Given the description of an element on the screen output the (x, y) to click on. 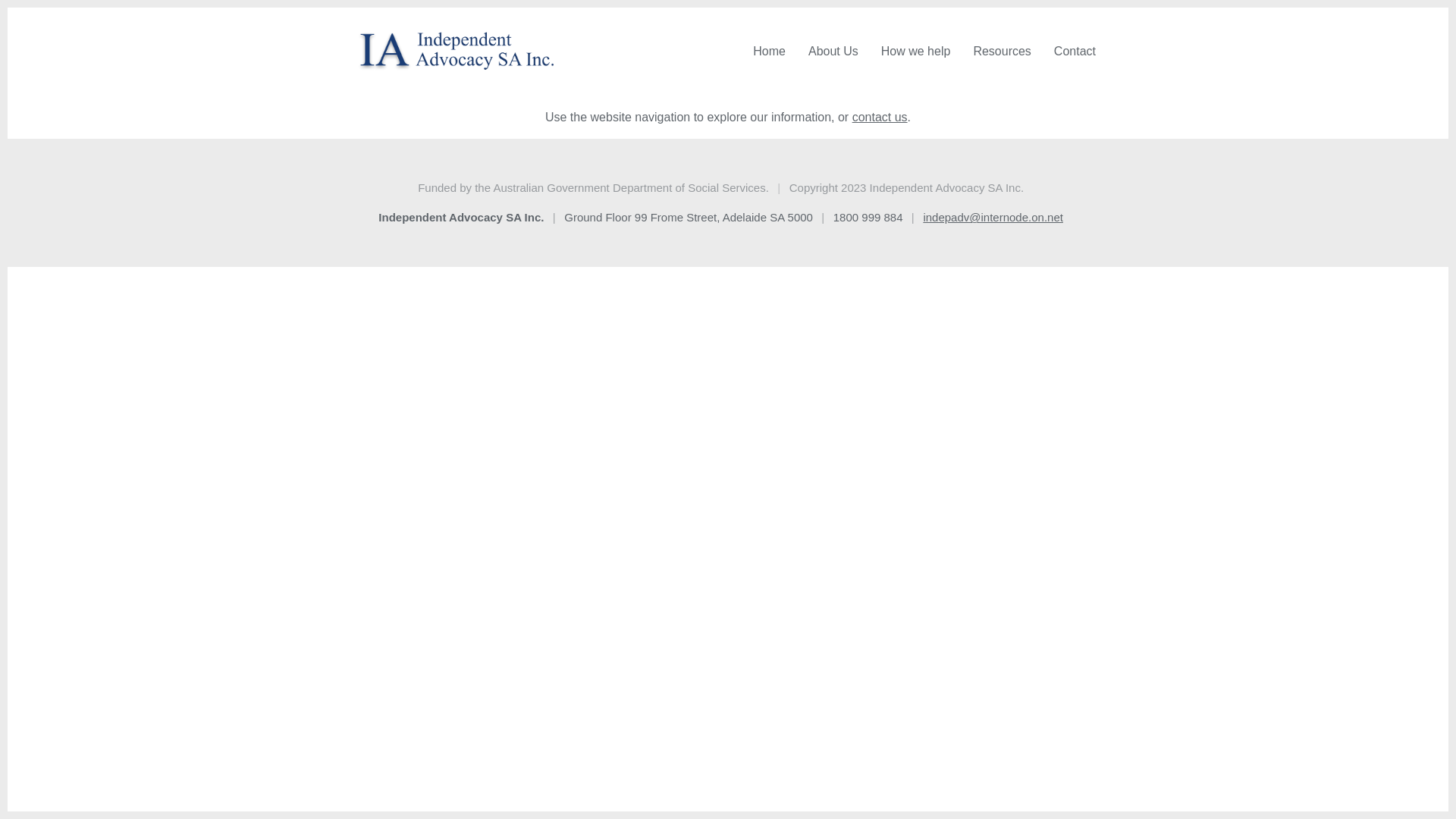
contact us Element type: text (879, 116)
About Us Element type: text (833, 51)
Resources Element type: text (1001, 51)
Home Element type: text (769, 51)
Contact Element type: text (1074, 51)
indepadv@internode.on.net Element type: text (992, 216)
How we help Element type: text (915, 51)
